Given the description of an element on the screen output the (x, y) to click on. 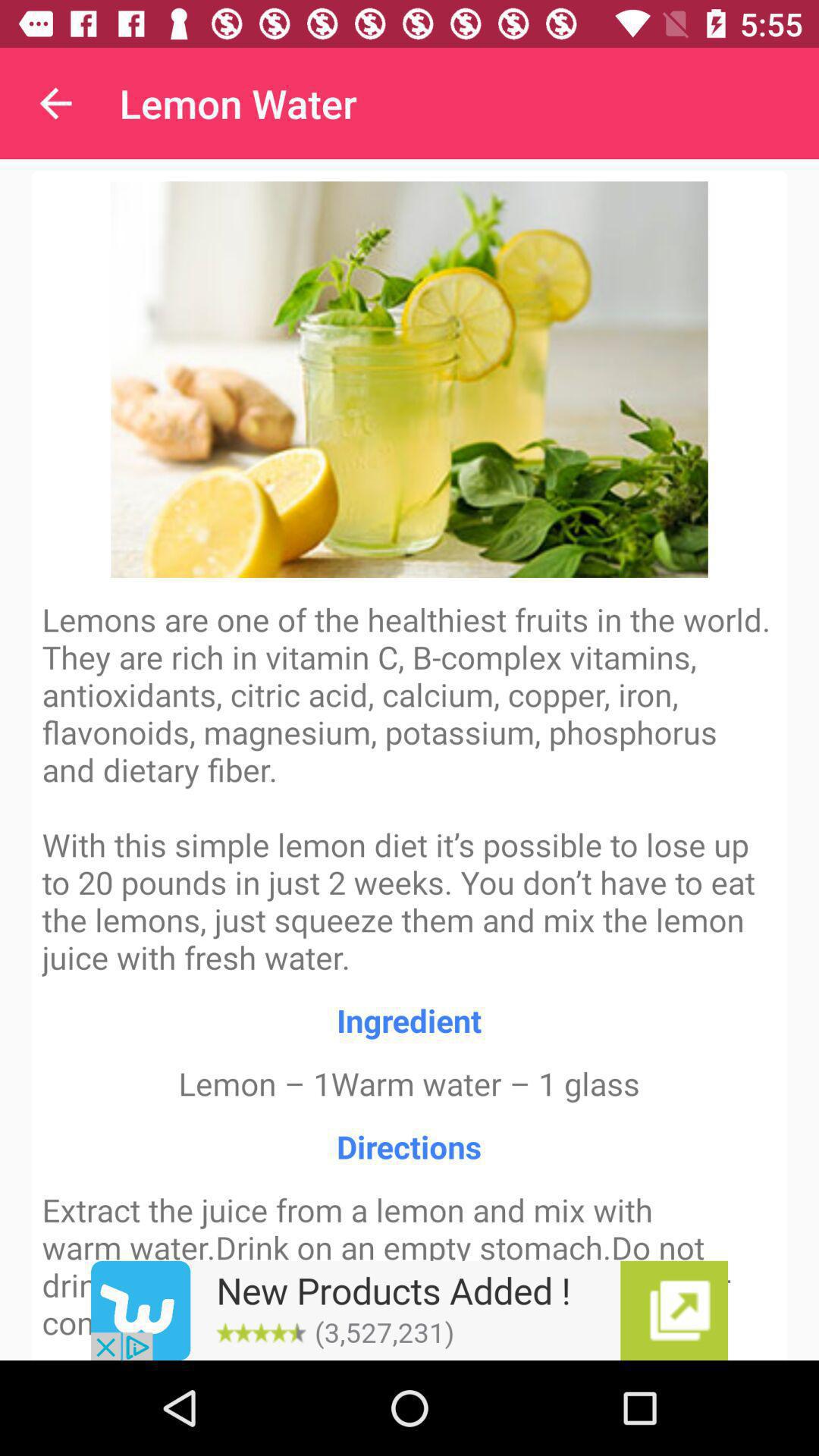
tap item to the left of lemon water item (55, 103)
